Given the description of an element on the screen output the (x, y) to click on. 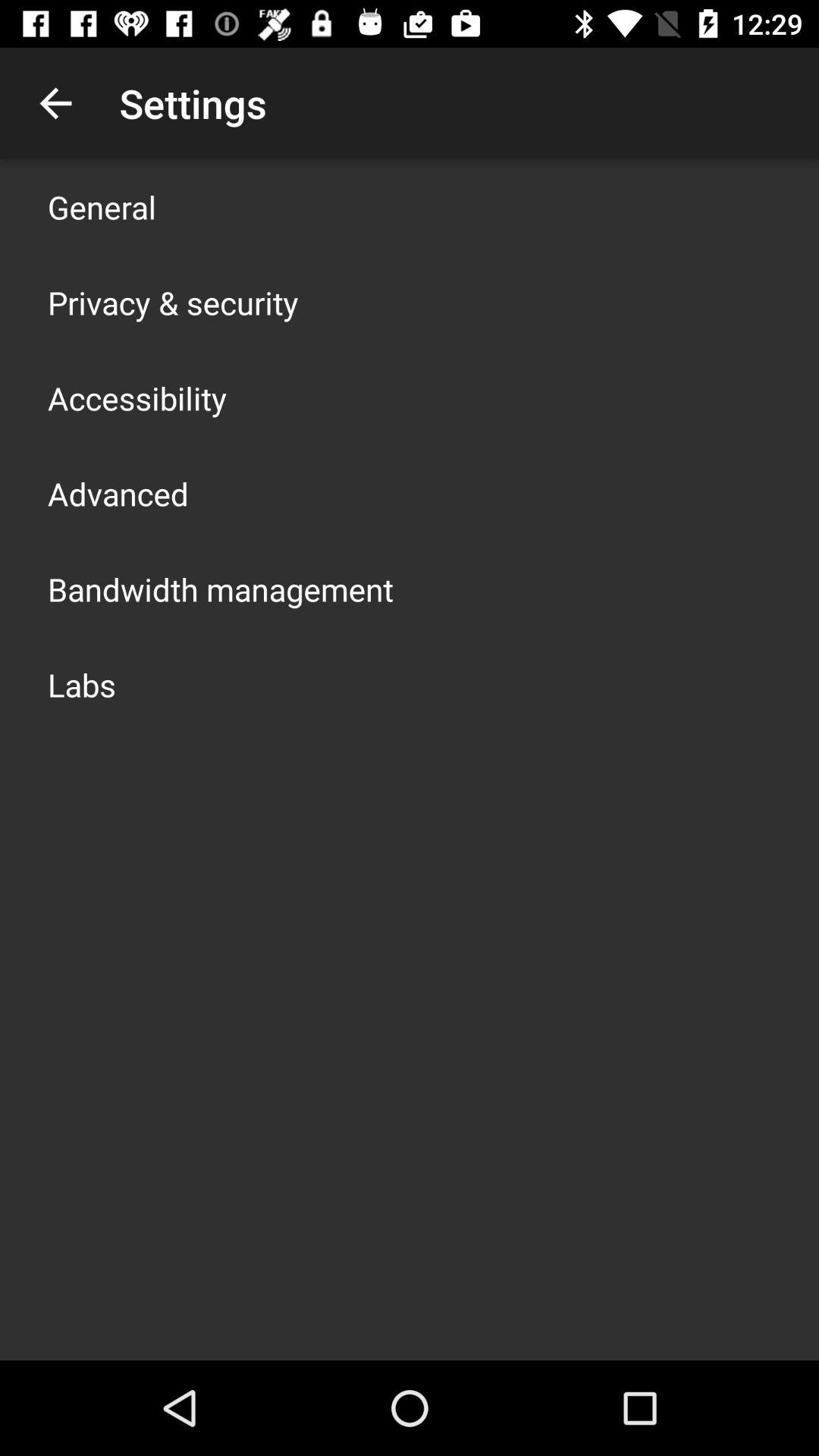
press the item above the advanced item (136, 397)
